Given the description of an element on the screen output the (x, y) to click on. 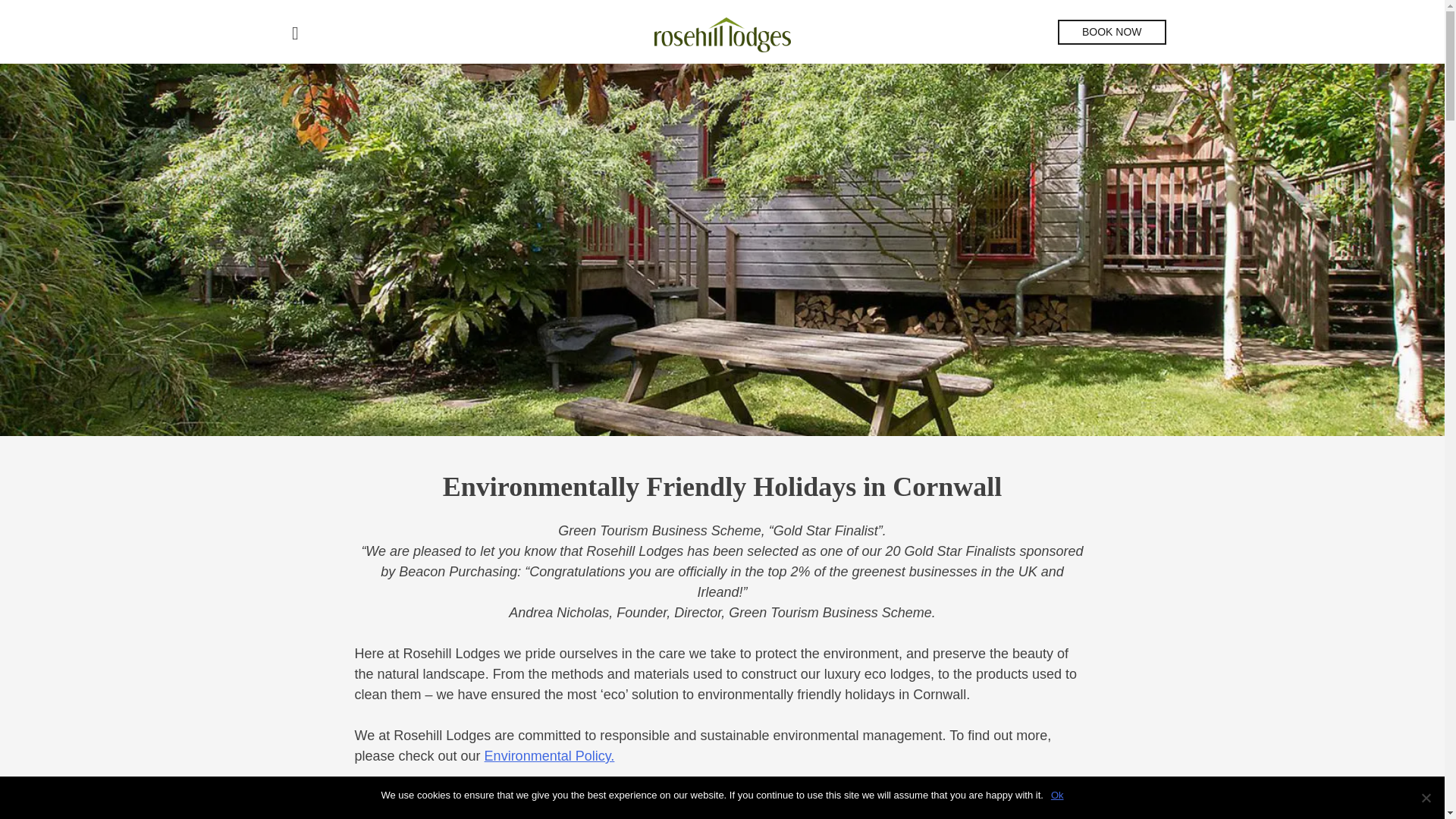
BOOK NOW (1112, 32)
Environmental Policy. (549, 755)
No (1425, 797)
